Given the description of an element on the screen output the (x, y) to click on. 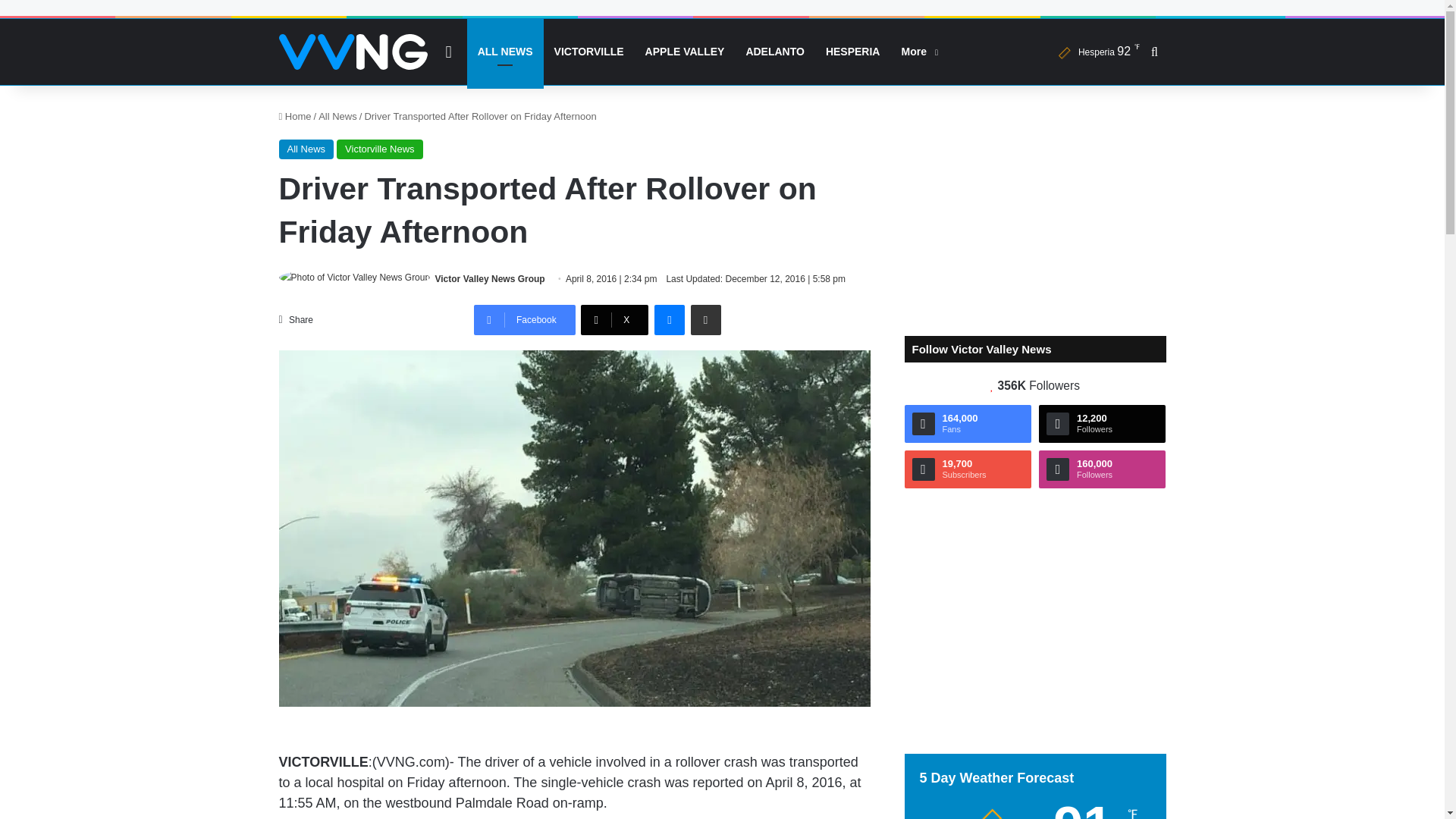
All News (306, 148)
Share via Email (705, 319)
ADELANTO (775, 51)
VVNG - Victor Valley News (353, 51)
Messenger (668, 319)
Messenger (668, 319)
Victorville News (379, 148)
Victor Valley News Group (489, 278)
Clear Sky (1095, 51)
VICTORVILLE (588, 51)
